Given the description of an element on the screen output the (x, y) to click on. 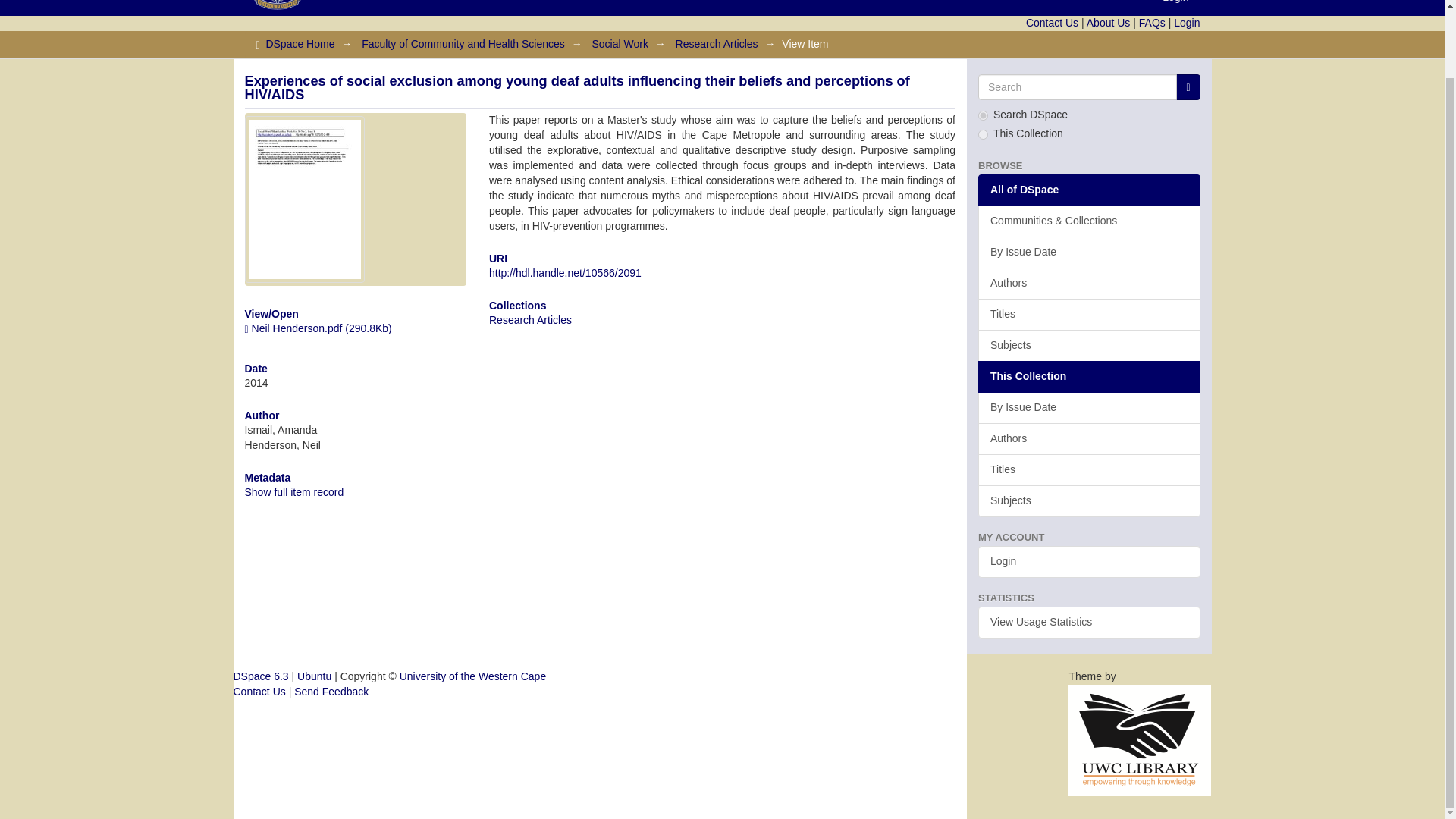
Social Work (619, 43)
Faculty of Community and Health Sciences (462, 43)
Show full item record (293, 491)
Research Articles (716, 43)
Go (1187, 86)
All of DSpace (1088, 190)
Login (1175, 7)
FAQs (1152, 22)
Login (1186, 22)
About Us (1108, 22)
